Given the description of an element on the screen output the (x, y) to click on. 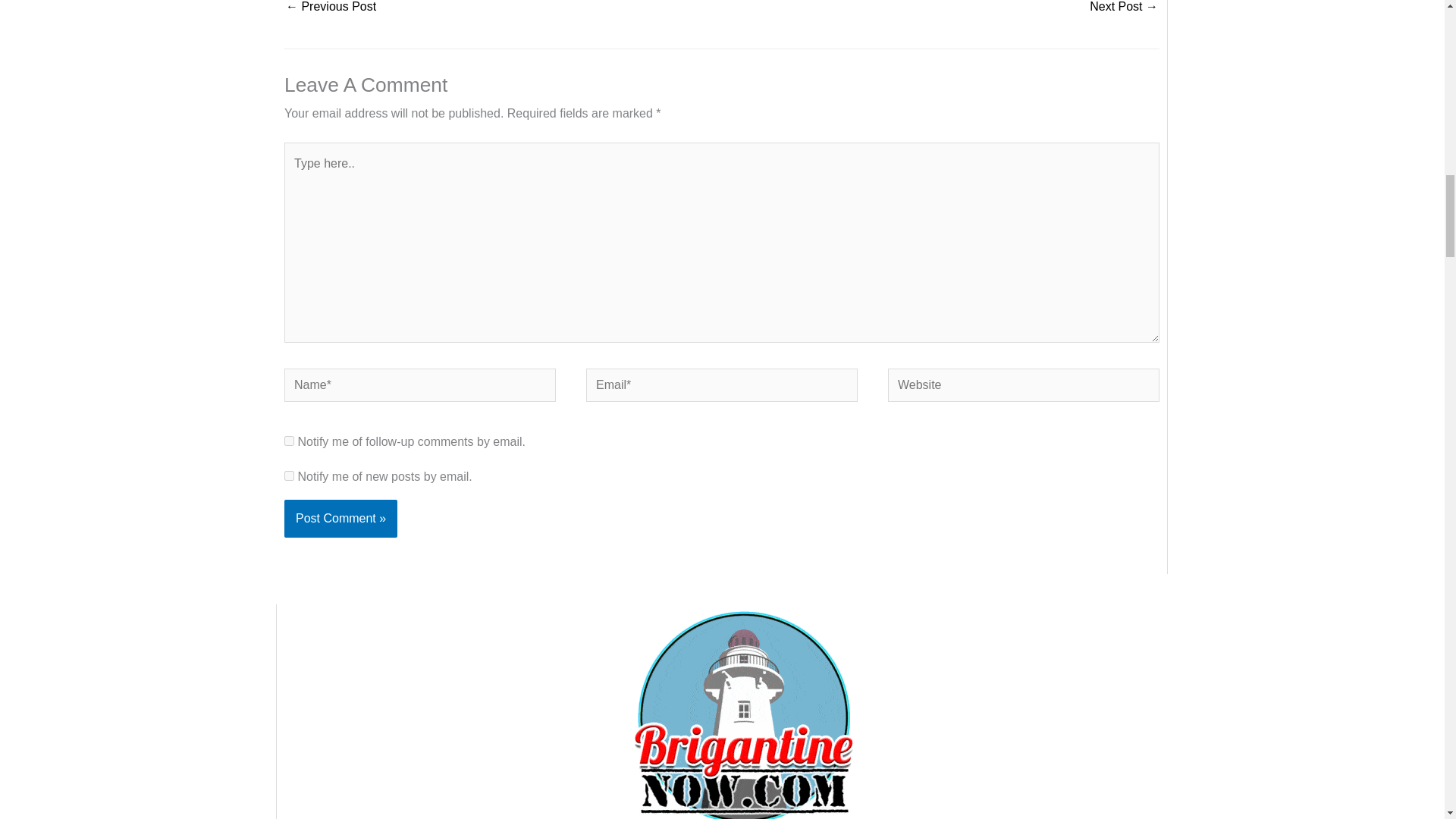
Brigantine Pays Whistle Blower. Pigeon Shooting. (330, 11)
subscribe (288, 475)
subscribe (288, 440)
